Given the description of an element on the screen output the (x, y) to click on. 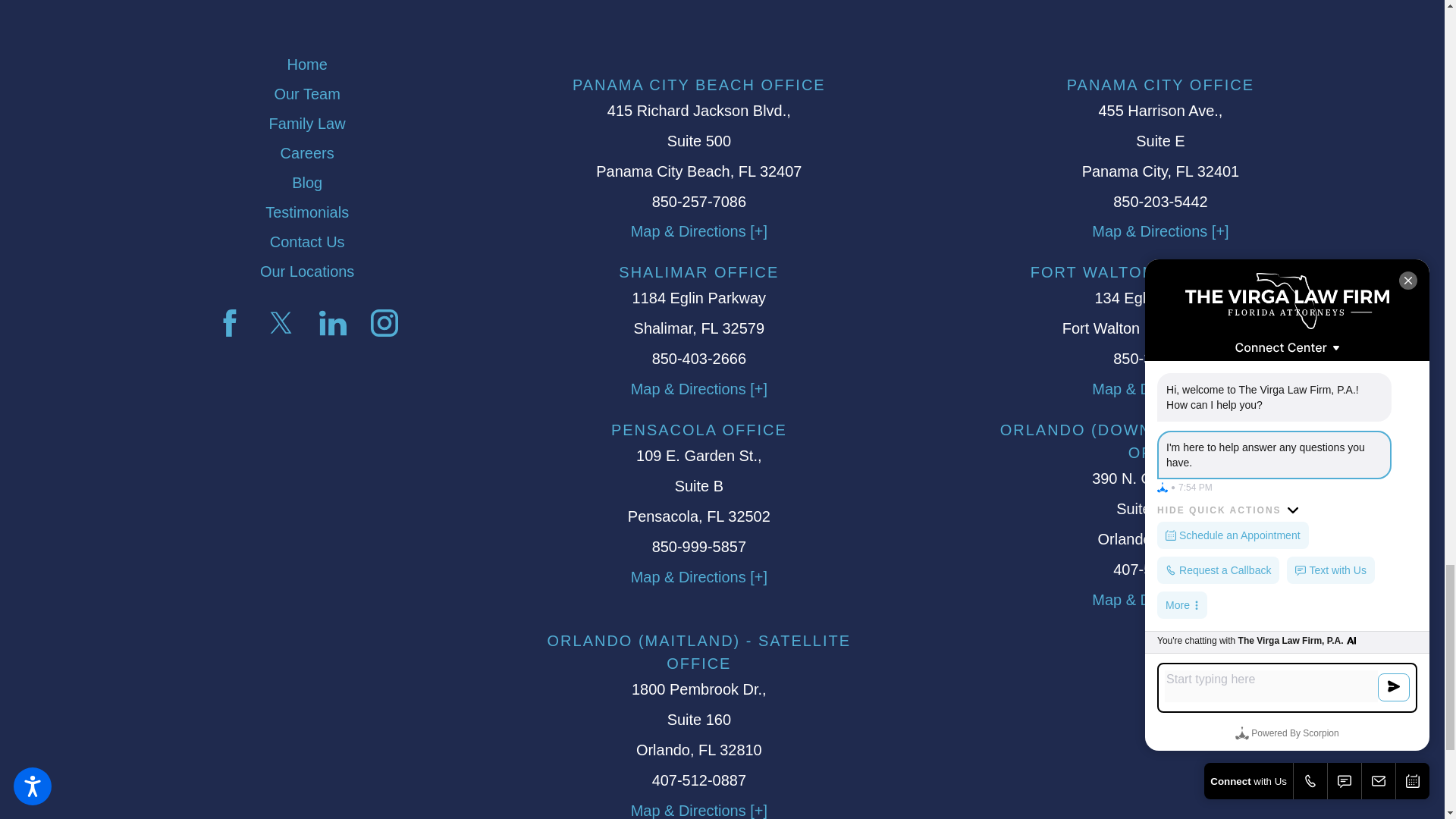
Twitter (281, 322)
Facebook (229, 322)
Instagram (384, 322)
LinkedIn (332, 322)
